Given the description of an element on the screen output the (x, y) to click on. 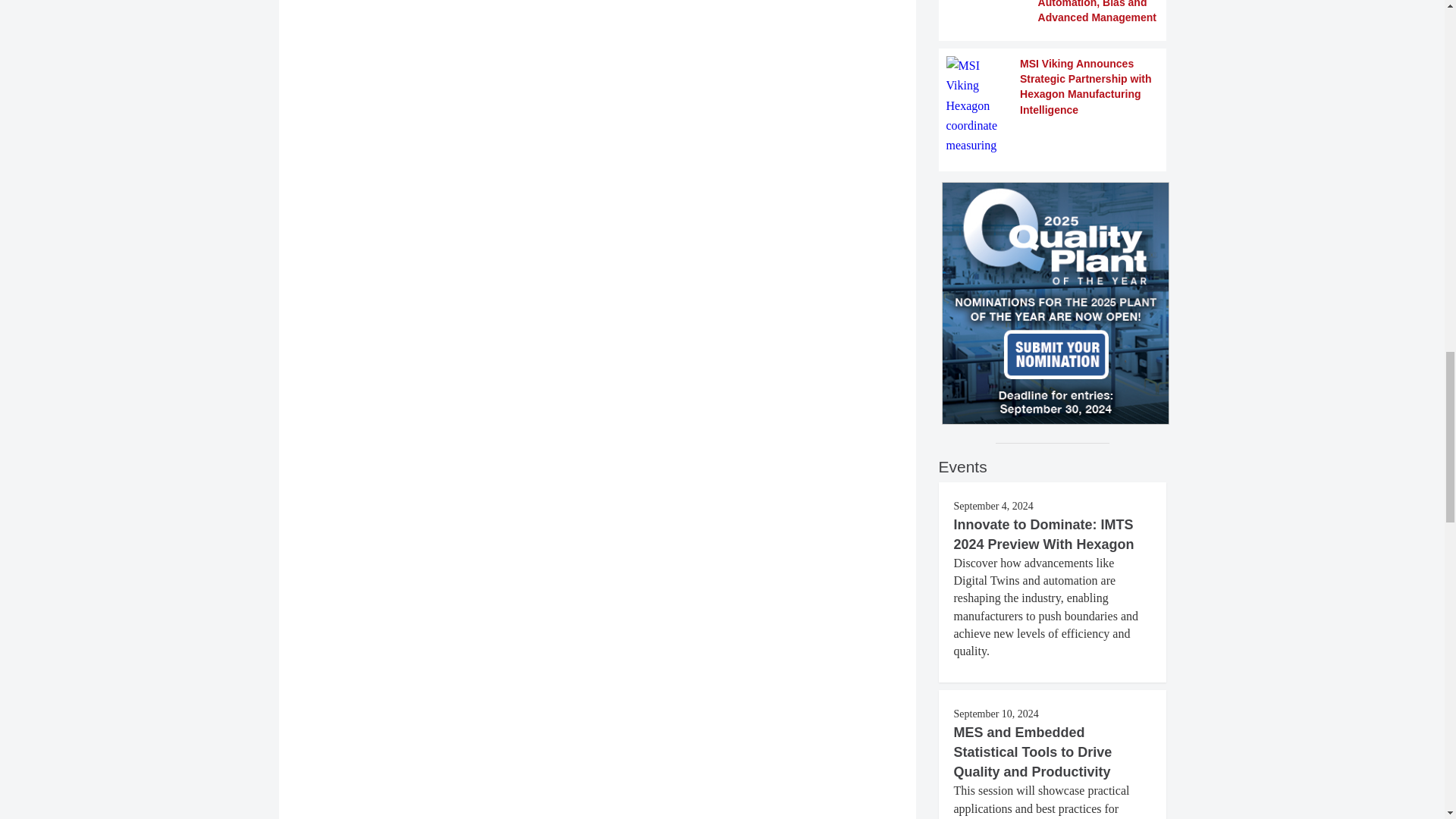
Innovate to Dominate: IMTS 2024 Preview With Hexagon (1043, 534)
